Given the description of an element on the screen output the (x, y) to click on. 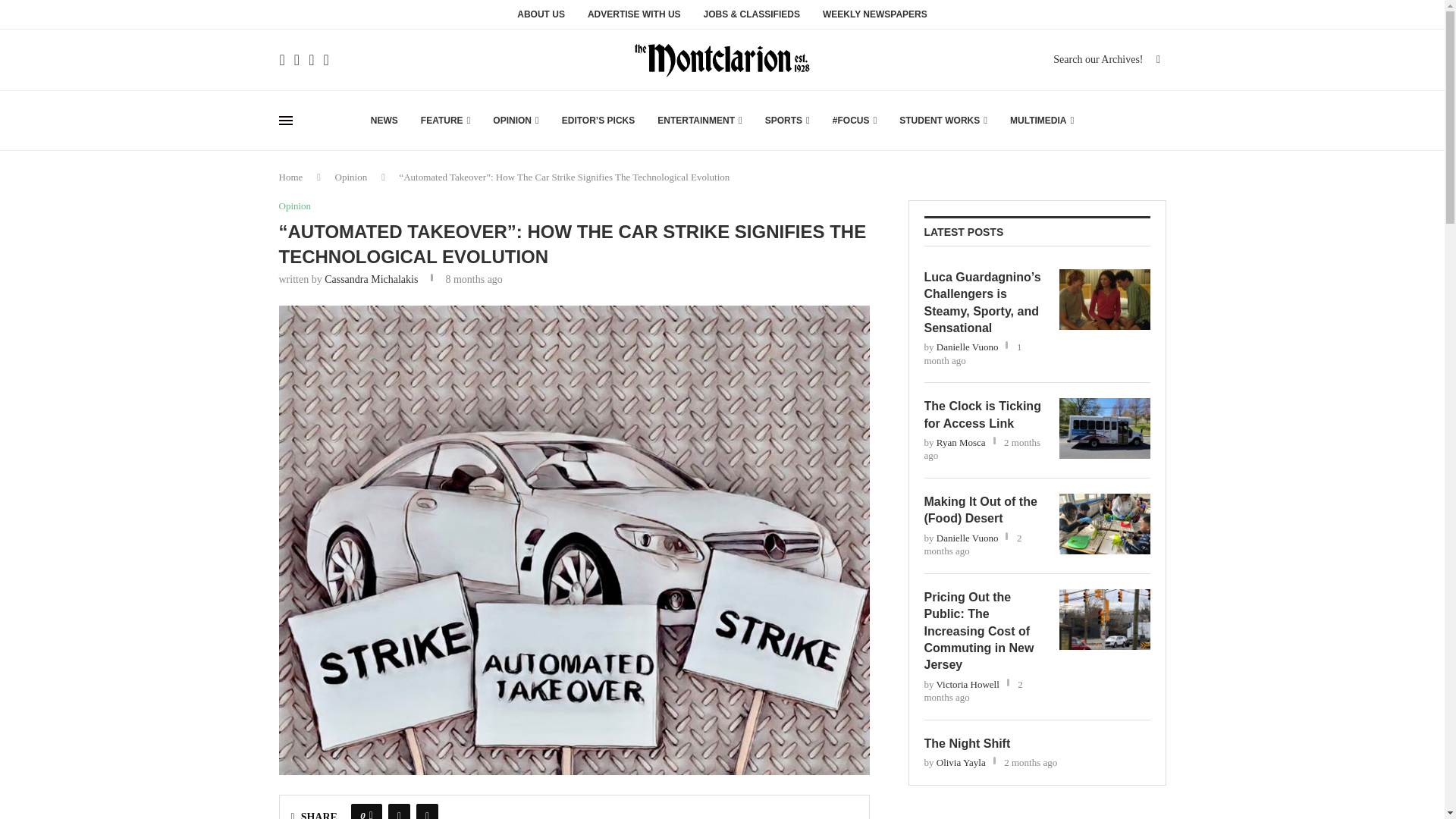
Like (370, 811)
ABOUT US (540, 18)
WEEKLY NEWSPAPERS (874, 18)
Cassandra Michalakis (370, 279)
OPINION (515, 120)
ADVERTISE WITH US (634, 18)
SPORTS (787, 120)
ENTERTAINMENT (700, 120)
NEWS (384, 120)
FEATURE (445, 120)
